Given the description of an element on the screen output the (x, y) to click on. 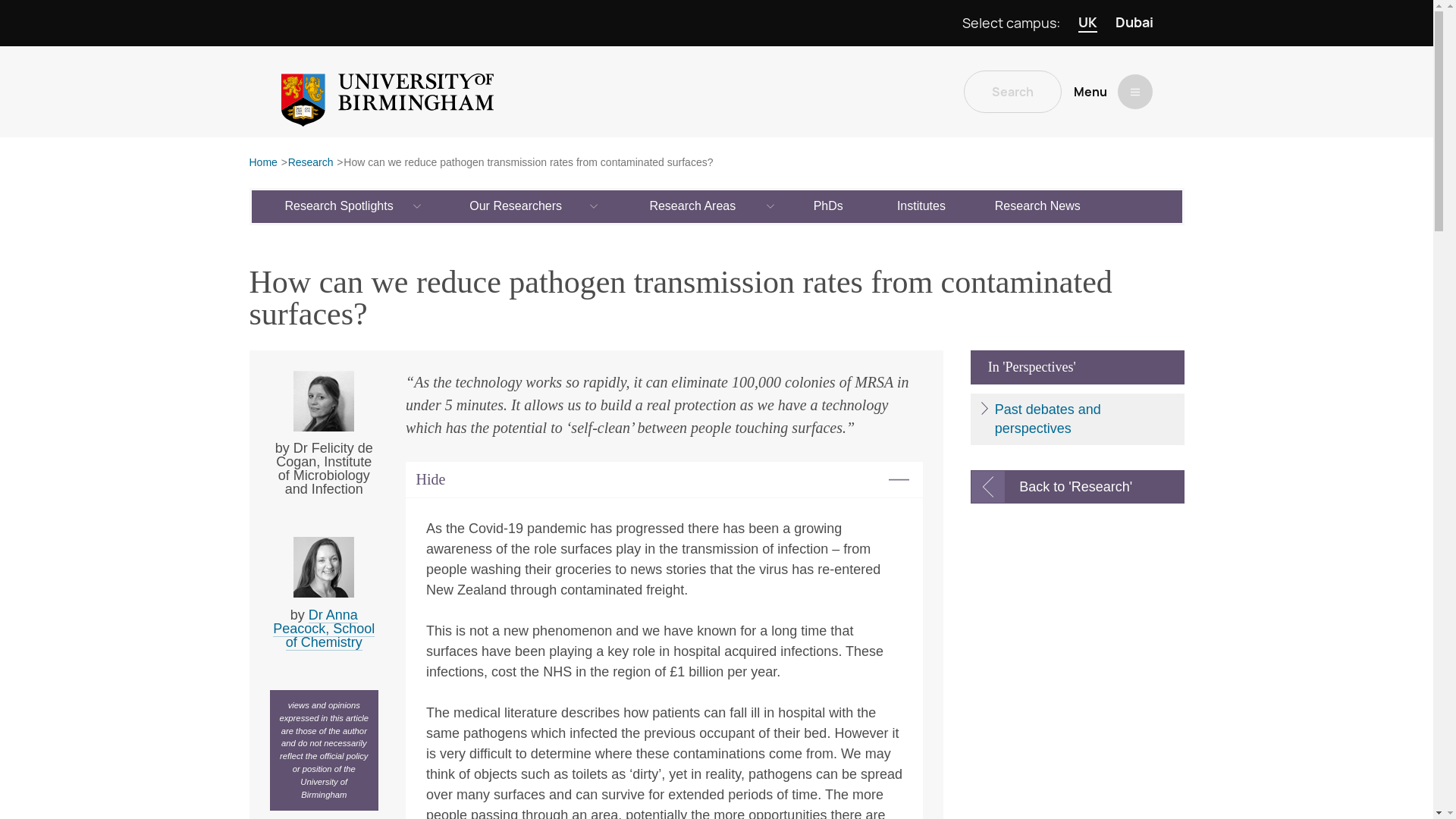
Research Spotlights (339, 205)
UK (1087, 23)
Research Areas (693, 205)
Research (310, 163)
Search (1012, 91)
Dubai (1134, 23)
Home (262, 163)
Our Researchers (516, 205)
